Given the description of an element on the screen output the (x, y) to click on. 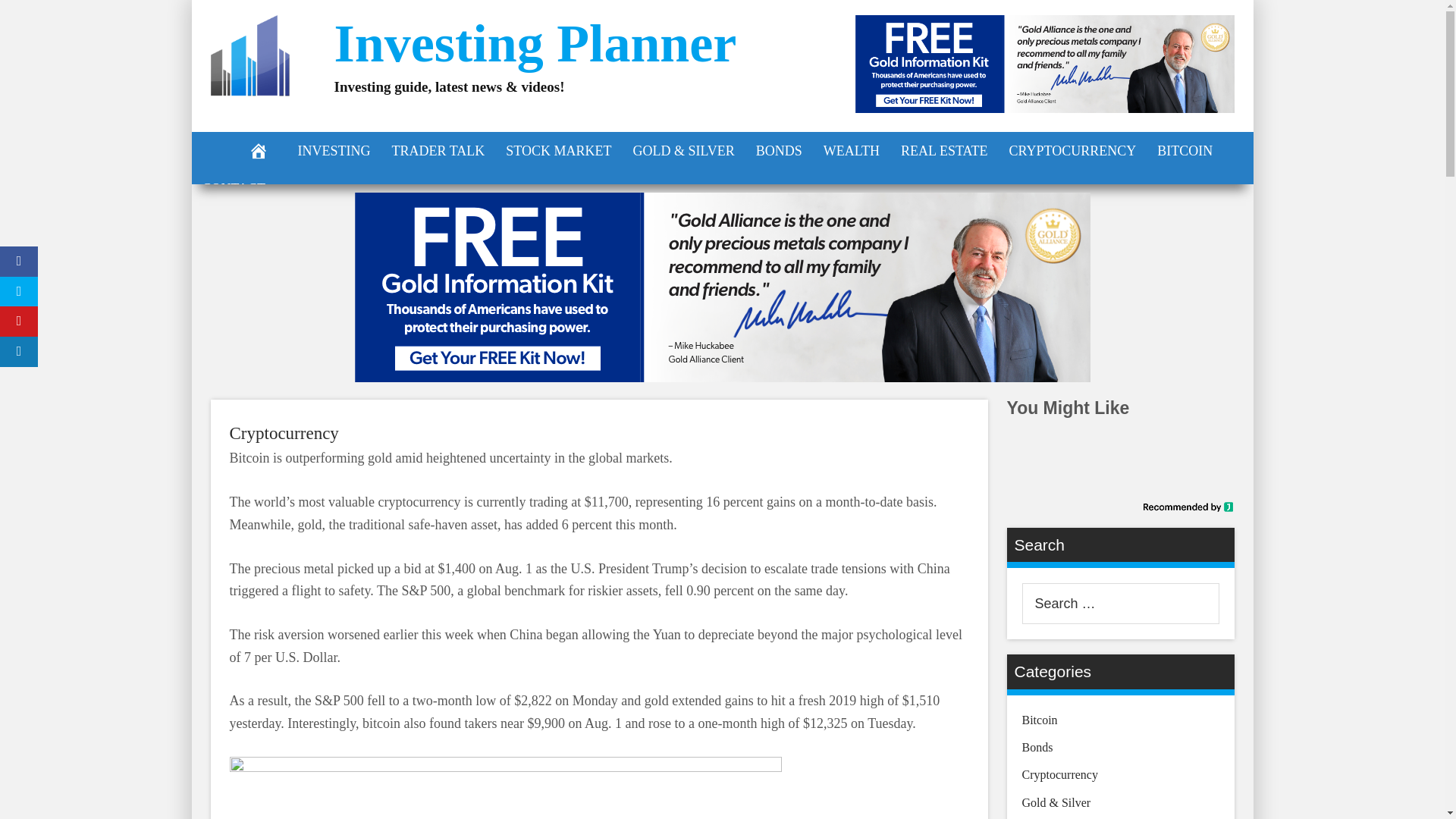
Cryptocurrency (282, 433)
Investing Planner (534, 43)
TRADER TALK (437, 150)
STOCK MARKET (558, 150)
INVESTING (333, 150)
BONDS (778, 150)
